Given the description of an element on the screen output the (x, y) to click on. 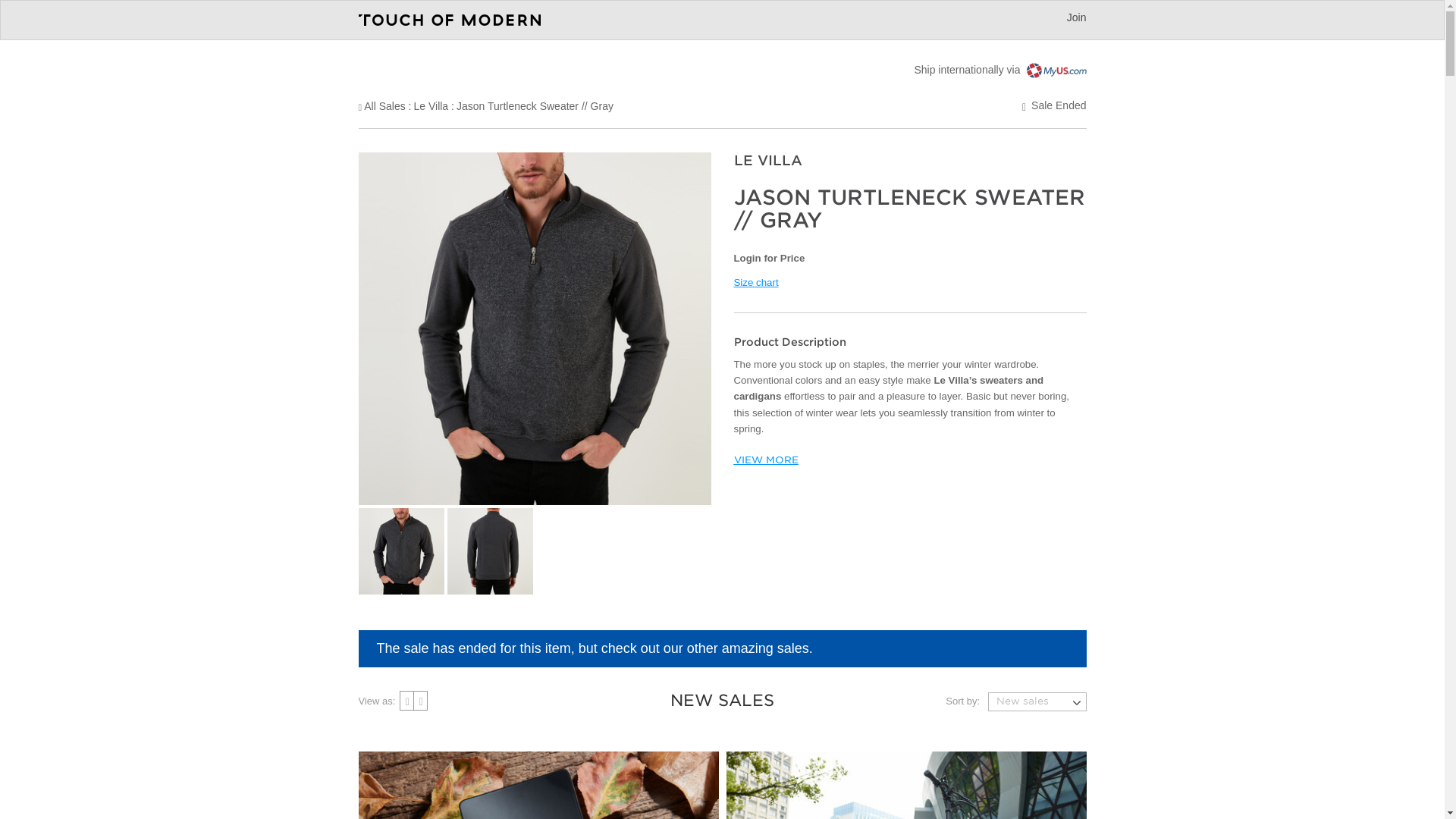
Ship internationally via (1000, 69)
Size chart (755, 282)
All Sales (384, 105)
Join (1076, 17)
All Sales (384, 105)
Le Villa  (430, 105)
Le Villa (430, 105)
